Given the description of an element on the screen output the (x, y) to click on. 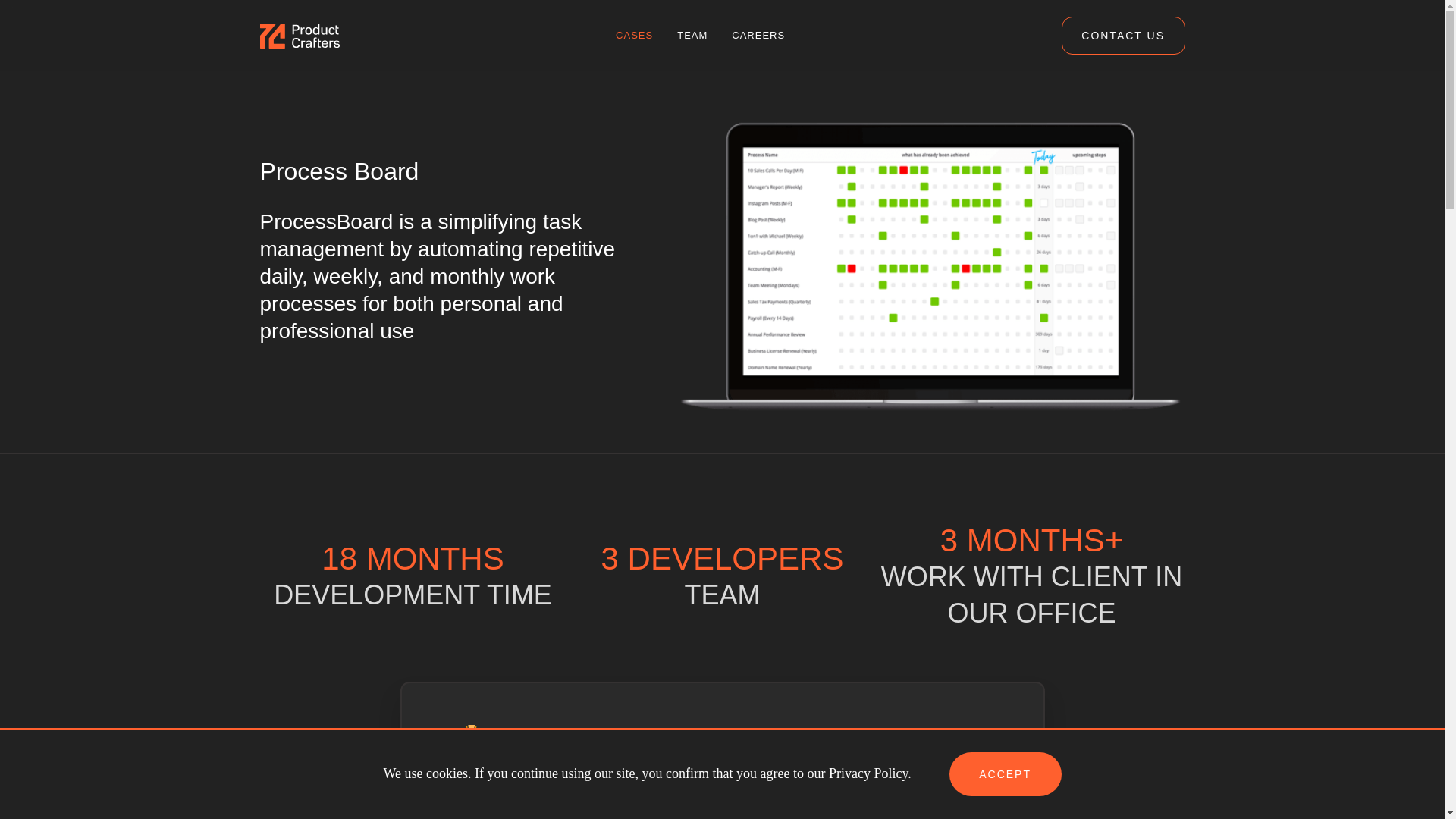
TEAM (692, 35)
CASES (633, 35)
CAREERS (758, 35)
CONTACT US (1123, 35)
ACCEPT (1005, 774)
